Given the description of an element on the screen output the (x, y) to click on. 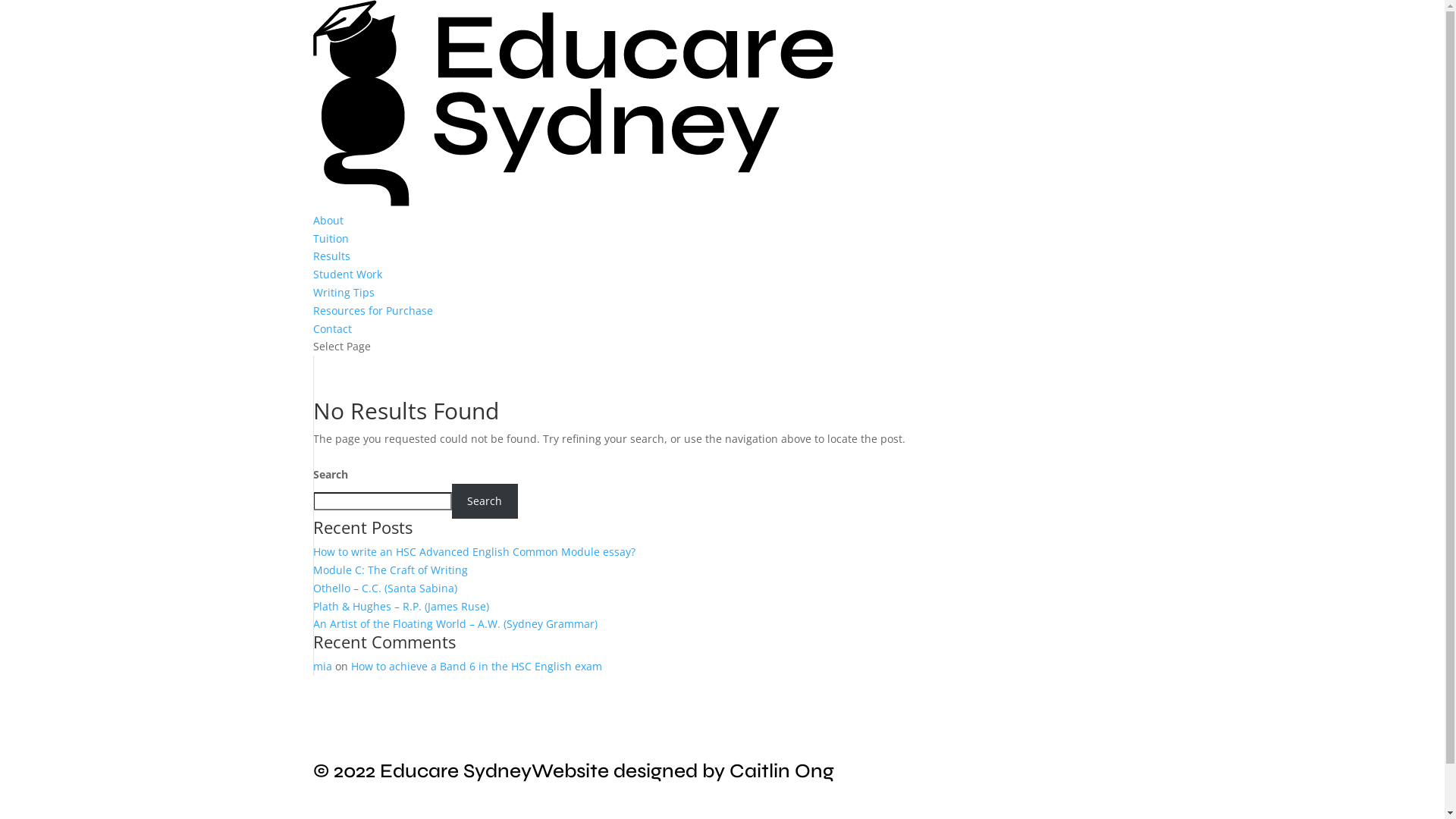
Writing Tips Element type: text (342, 292)
How to write an HSC Advanced English Common Module essay? Element type: text (473, 551)
Student Work Element type: text (346, 273)
Results Element type: text (330, 255)
Tuition Element type: text (330, 238)
Search Element type: text (484, 500)
Resources for Purchase Element type: text (372, 310)
Module C: The Craft of Writing Element type: text (389, 569)
Contact Element type: text (331, 328)
About Element type: text (327, 220)
How to achieve a Band 6 in the HSC English exam  Element type: text (477, 665)
mia Element type: text (321, 665)
